Given the description of an element on the screen output the (x, y) to click on. 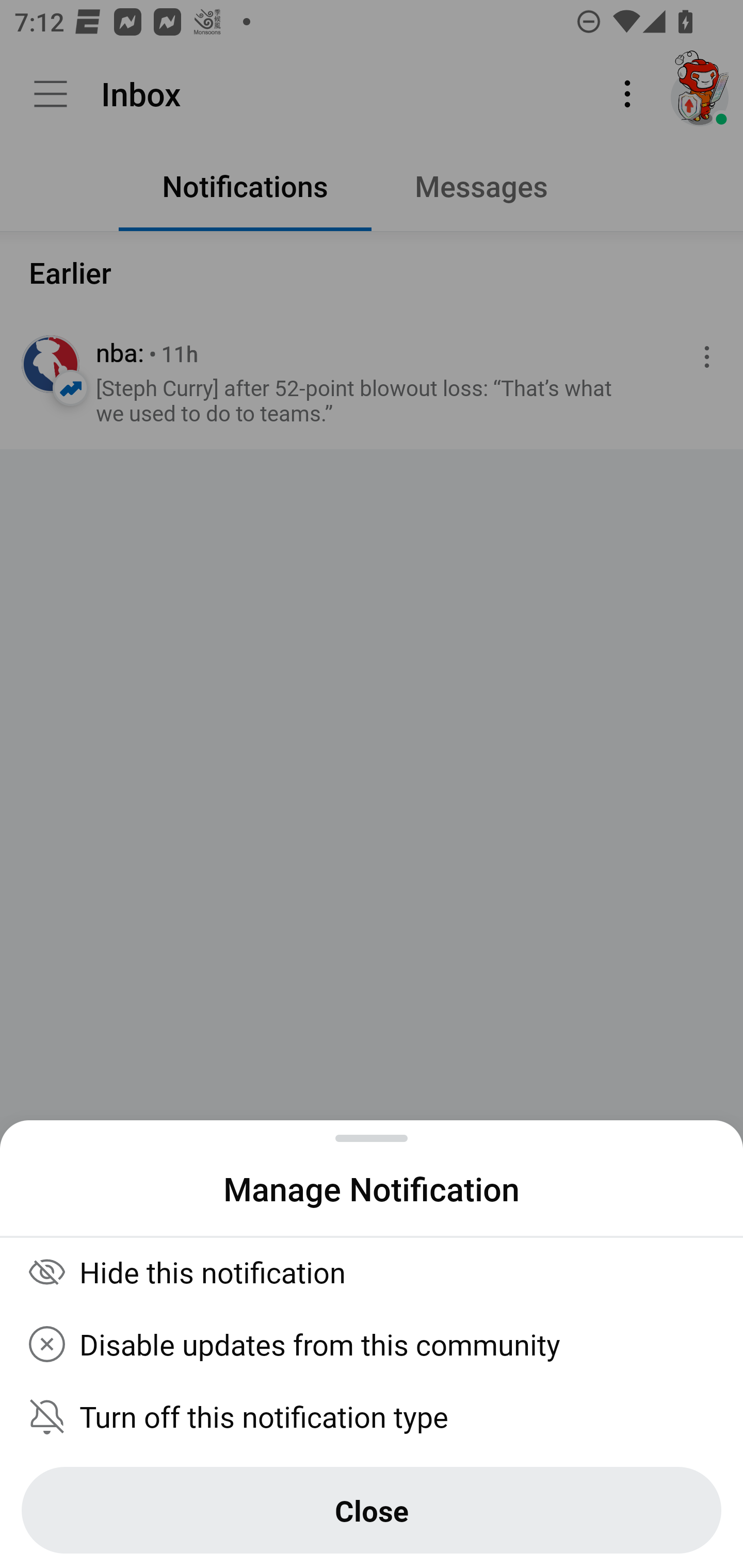
Hide this notification (371, 1271)
Disable updates from this community (371, 1343)
Turn off this notification type (371, 1415)
Close (371, 1510)
